Given the description of an element on the screen output the (x, y) to click on. 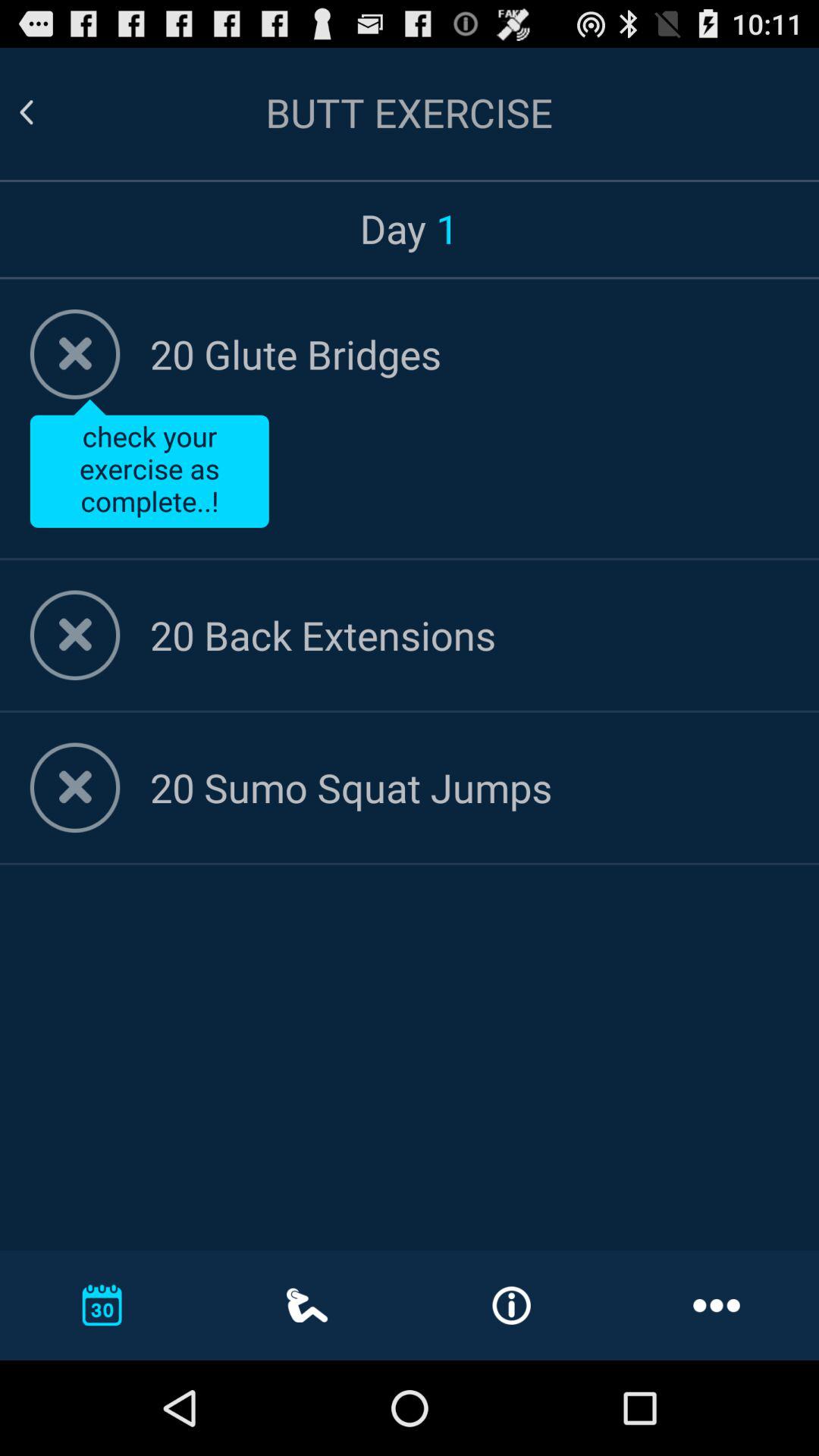
select the icon which is to the right of information icon (716, 1304)
select information or i icon which is on the bottom of the page (511, 1305)
click on the previous arrow button to the left of butt exercise text (26, 111)
select option 20 back extensions on page (468, 634)
